Given the description of an element on the screen output the (x, y) to click on. 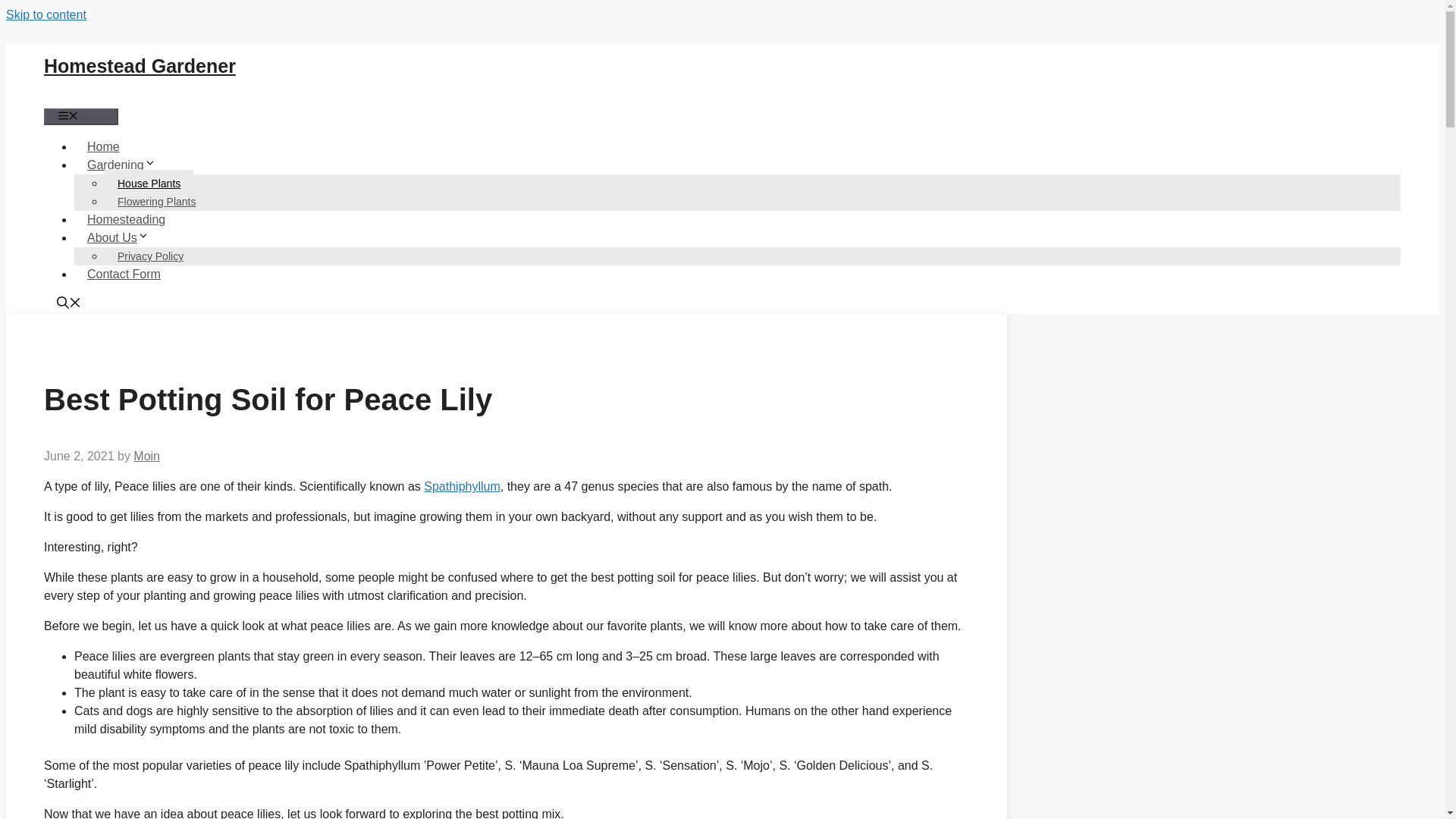
Skip to content (45, 14)
House Plants (148, 183)
Moin (146, 455)
Flowering Plants (156, 201)
View all posts by Moin (146, 455)
Contact Form (123, 273)
Menu (80, 116)
Spathiphyllum (461, 486)
Skip to content (45, 14)
Home (103, 146)
Privacy Policy (150, 256)
Homesteading (125, 219)
About Us (124, 237)
Gardening (128, 164)
Homestead Gardener (139, 65)
